Given the description of an element on the screen output the (x, y) to click on. 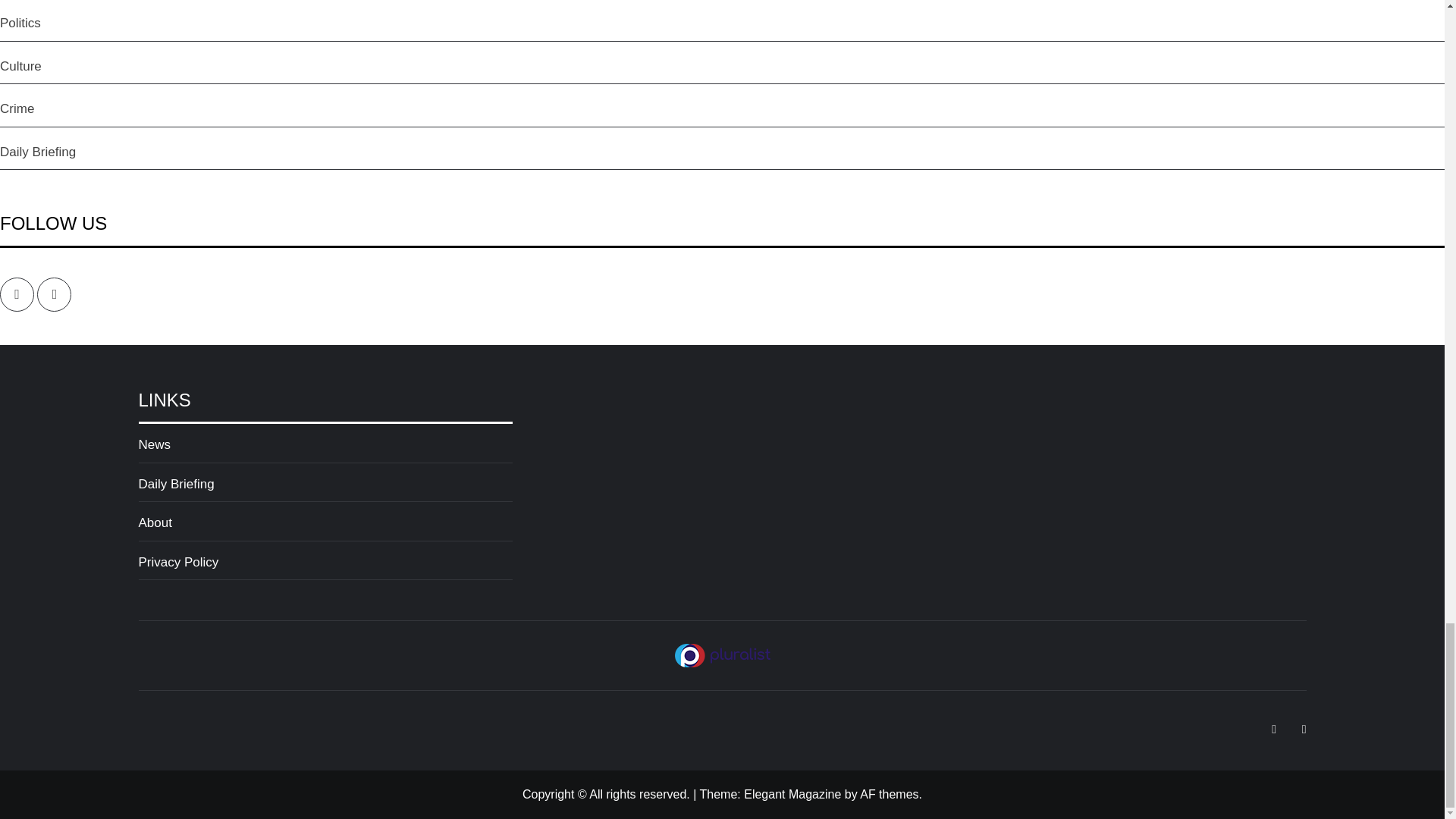
Daily Briefing (325, 488)
Twitter (54, 294)
Facebook (16, 294)
News (325, 448)
